Given the description of an element on the screen output the (x, y) to click on. 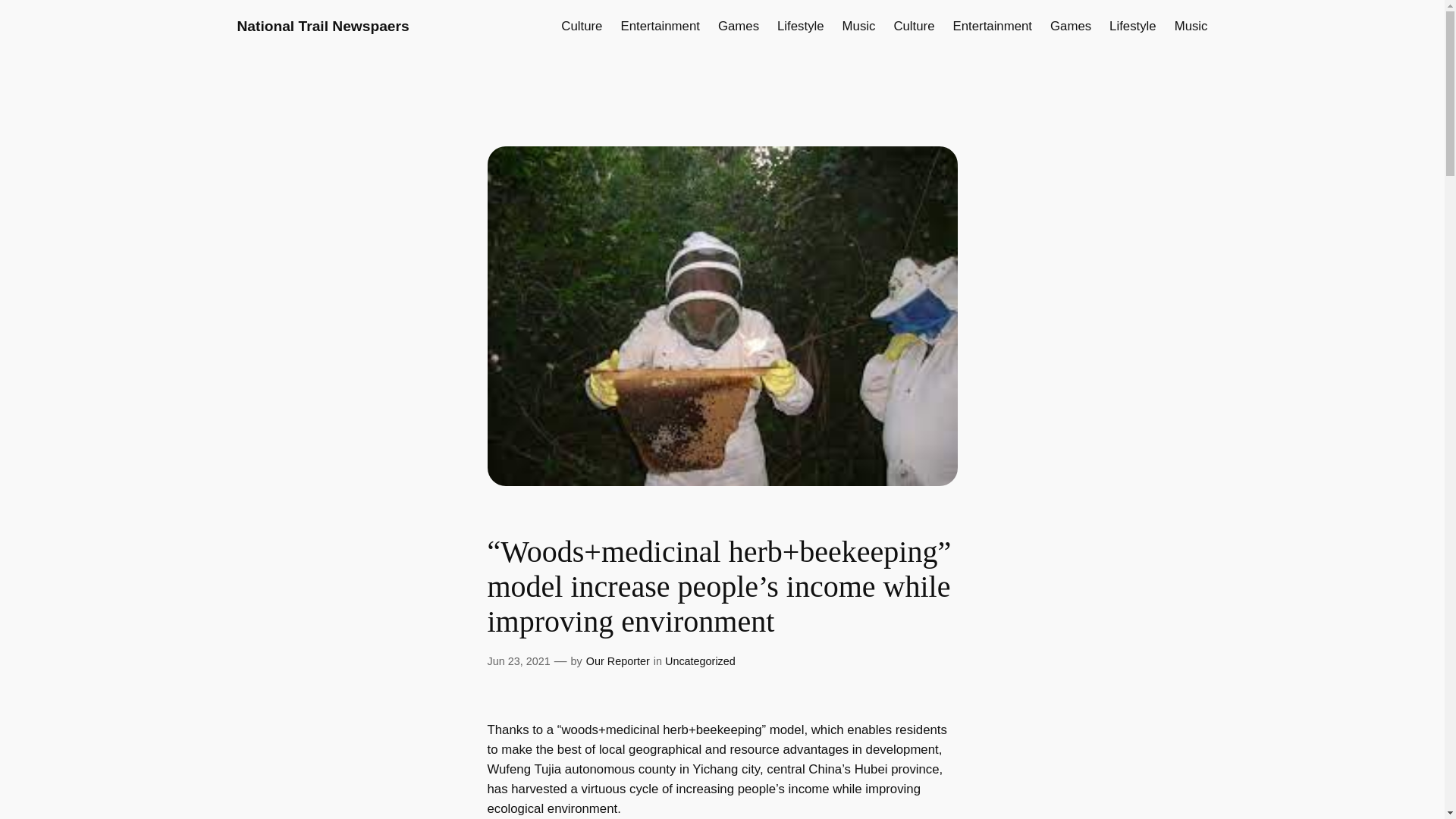
Culture (913, 26)
Games (737, 26)
Jun 23, 2021 (518, 661)
Games (1069, 26)
Entertainment (992, 26)
Our Reporter (617, 661)
Lifestyle (800, 26)
Culture (581, 26)
Lifestyle (1132, 26)
Entertainment (659, 26)
Uncategorized (700, 661)
Music (859, 26)
National Trail Newspaers (322, 26)
Music (1191, 26)
